Given the description of an element on the screen output the (x, y) to click on. 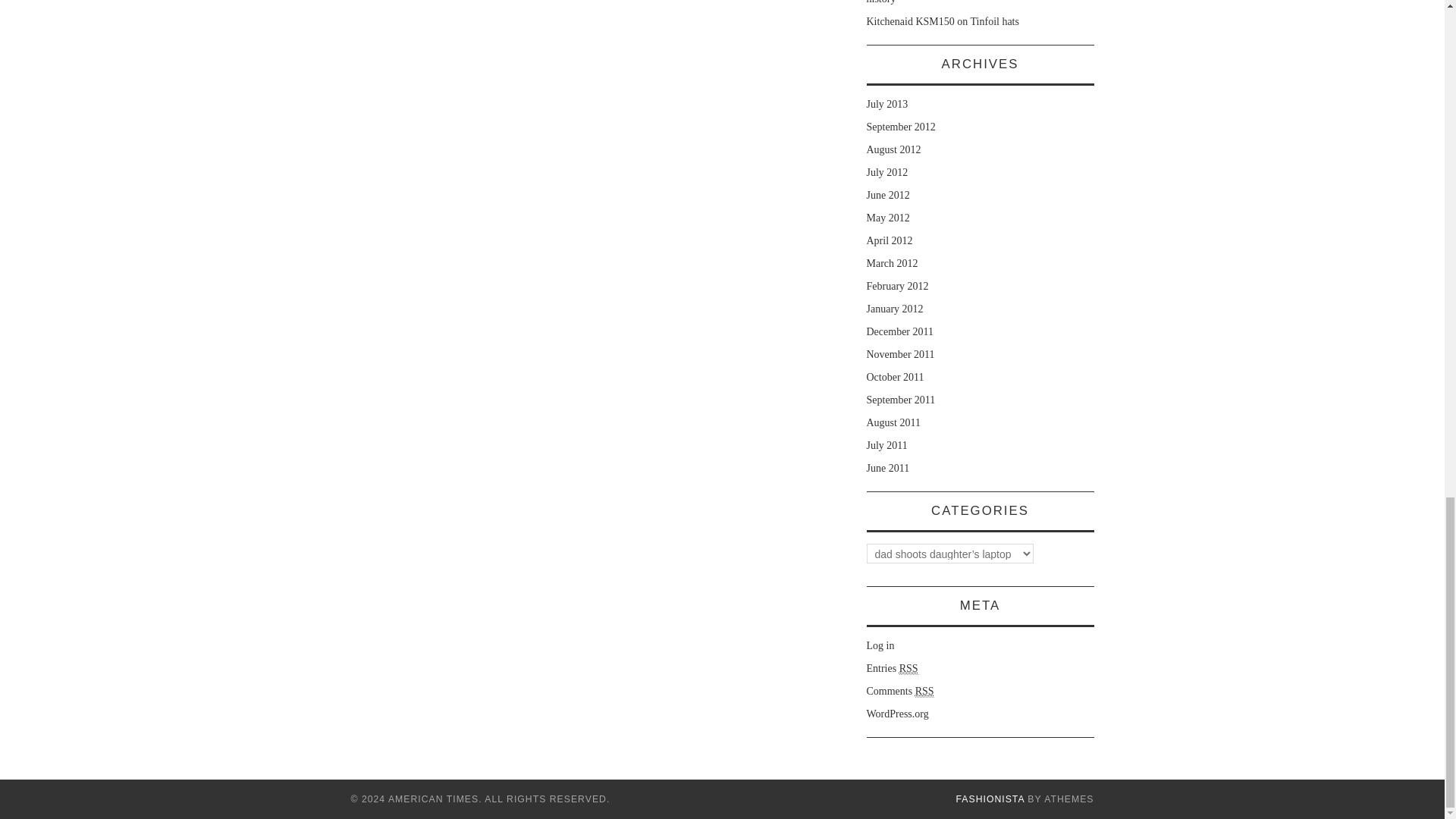
Really Simple Syndication (924, 691)
Really Simple Syndication (908, 668)
